Given the description of an element on the screen output the (x, y) to click on. 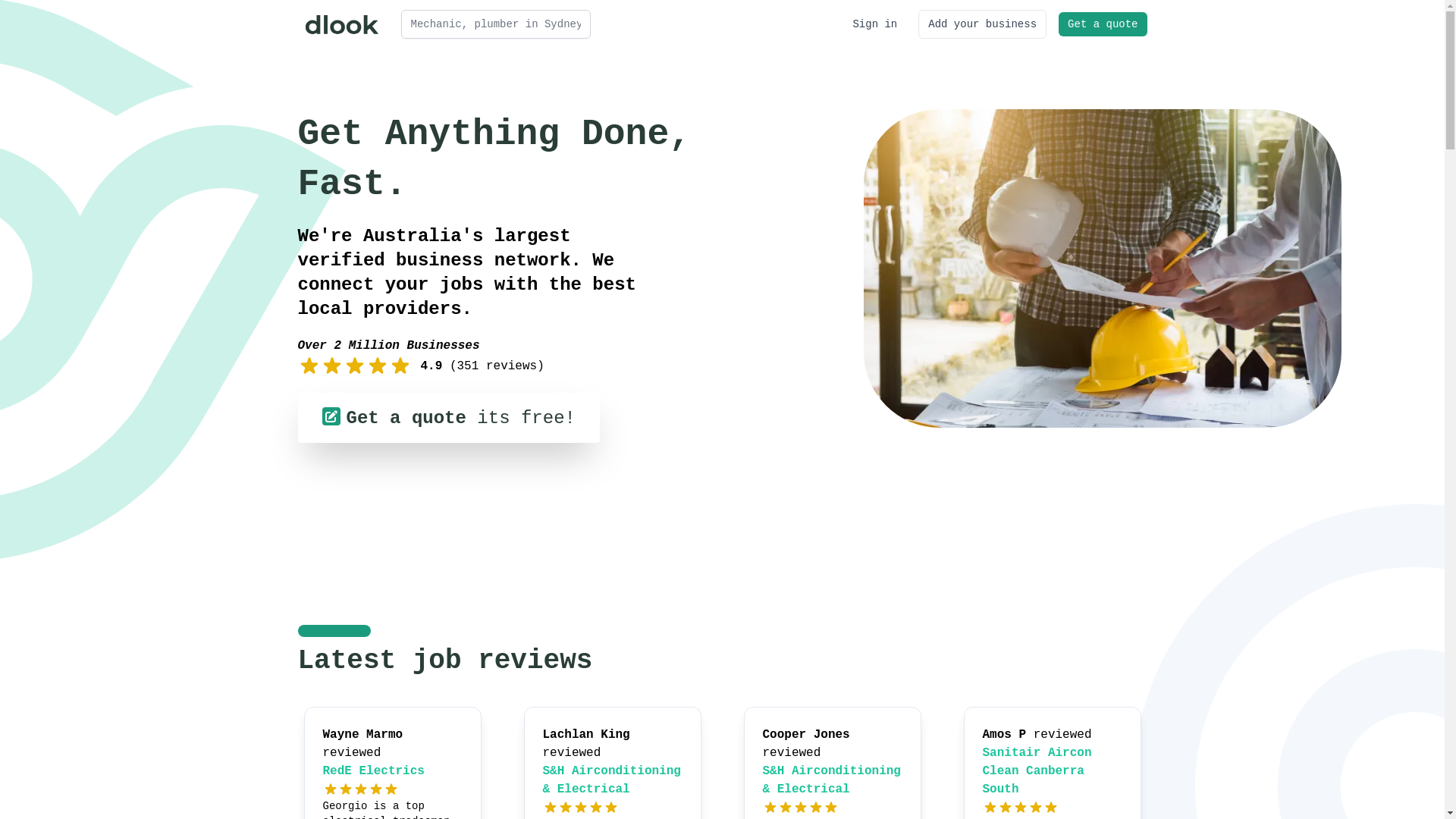
Sanitair Aircon Clean Canberra South Element type: text (1037, 771)
Get a quote its free! Element type: text (448, 417)
S&H Airconditioning & Electrical Element type: text (611, 780)
Get a quote Element type: text (1102, 24)
S&H Airconditioning & Electrical Element type: text (831, 780)
Sign in Element type: text (874, 23)
Add your business Element type: text (982, 23)
RedE Electrics Element type: text (373, 771)
